Given the description of an element on the screen output the (x, y) to click on. 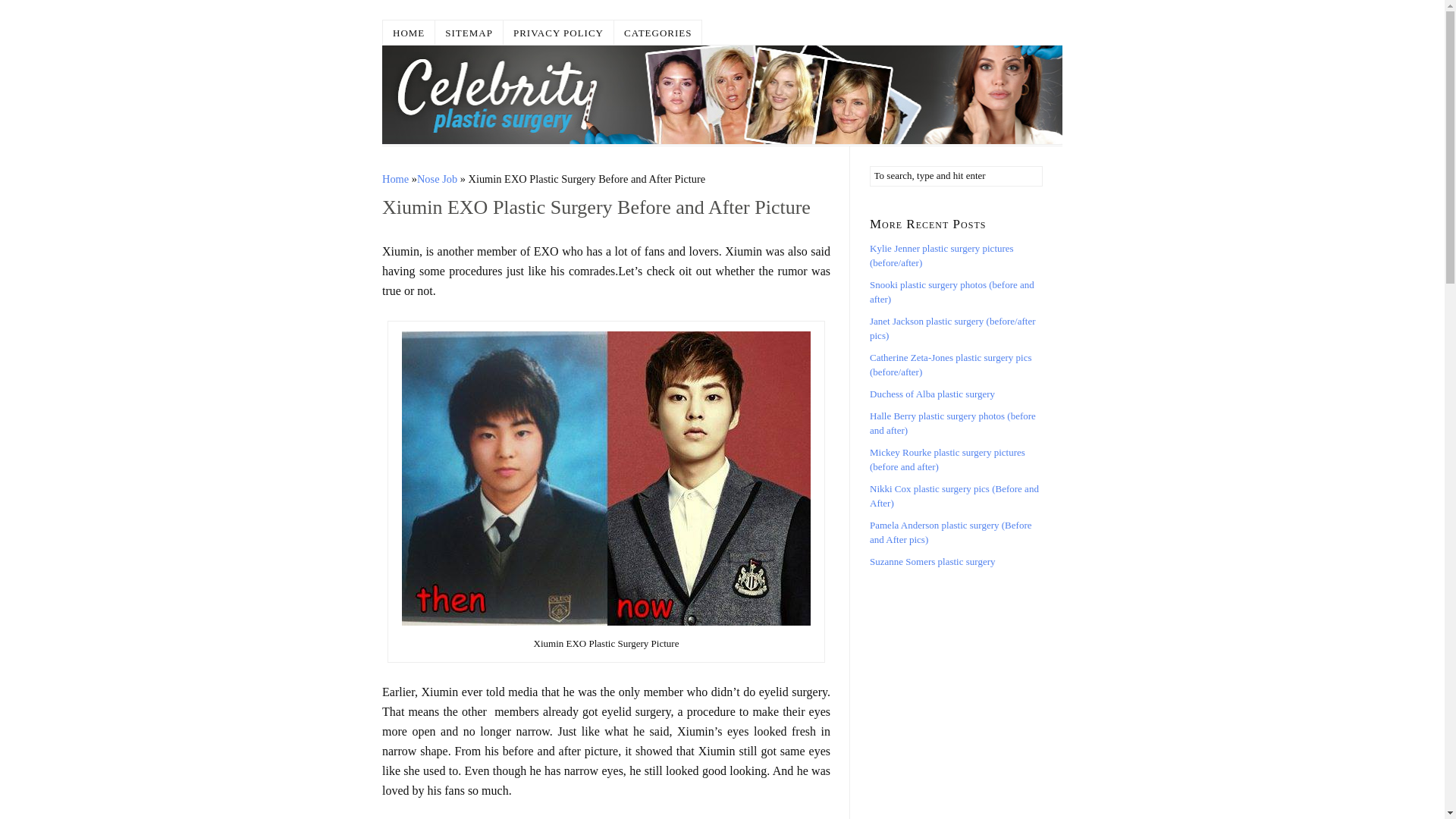
CATEGORIES (657, 32)
To search, type and hit enter (955, 176)
Click to read Duchess of Alba plastic surgery (931, 393)
PRIVACY POLICY (558, 32)
SITEMAP (469, 32)
HOME (408, 32)
Nose Job (436, 178)
Xiumin EXO Plastic Surgery Picture (605, 478)
Home (395, 178)
click to return home (721, 94)
Click to read Suzanne Somers plastic surgery (931, 561)
